Given the description of an element on the screen output the (x, y) to click on. 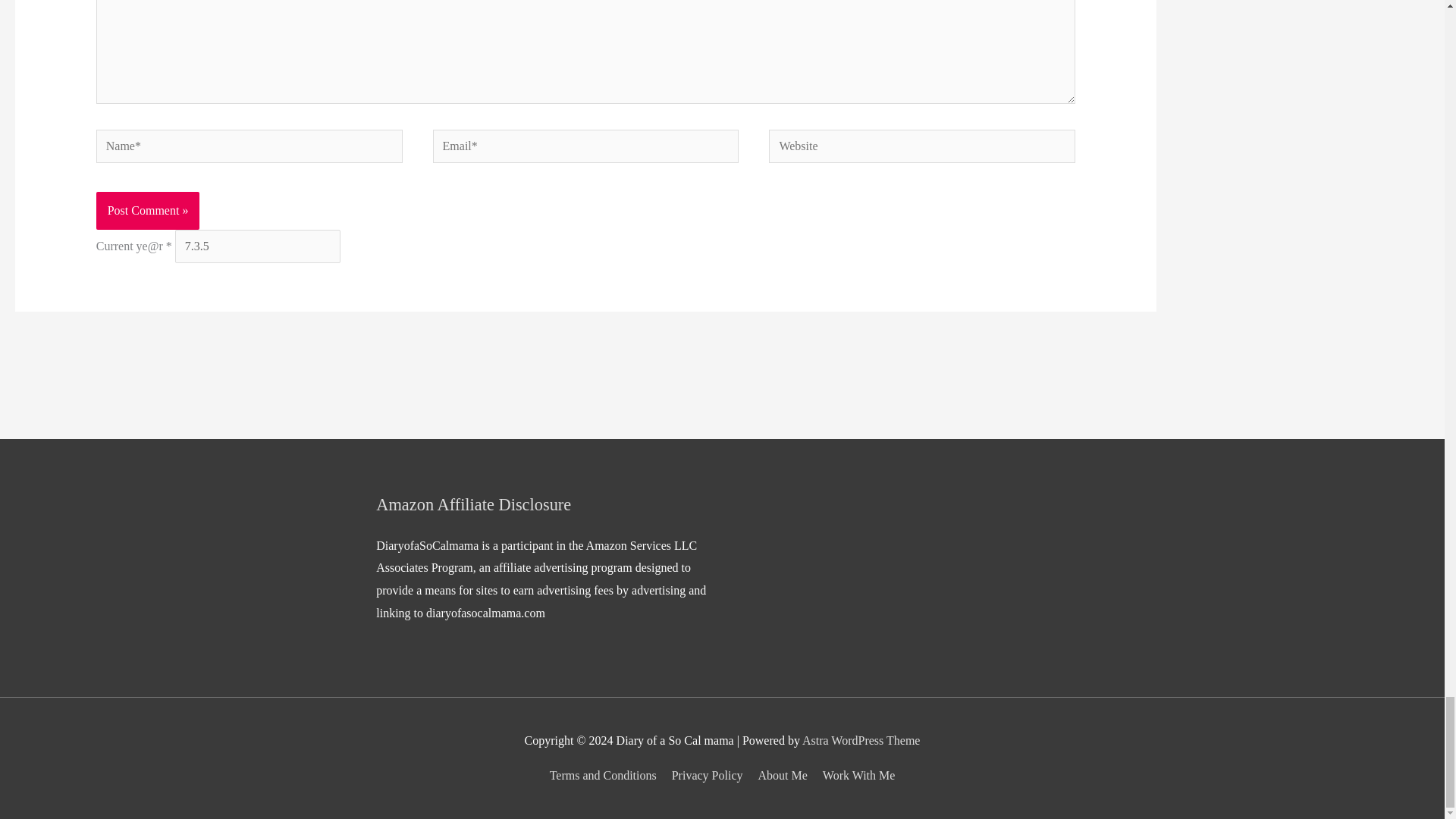
Astra WordPress Theme (861, 739)
Terms and Conditions (606, 775)
7.3.5 (257, 246)
Privacy Policy (707, 775)
About Me (781, 775)
Work With Me (855, 775)
